Given the description of an element on the screen output the (x, y) to click on. 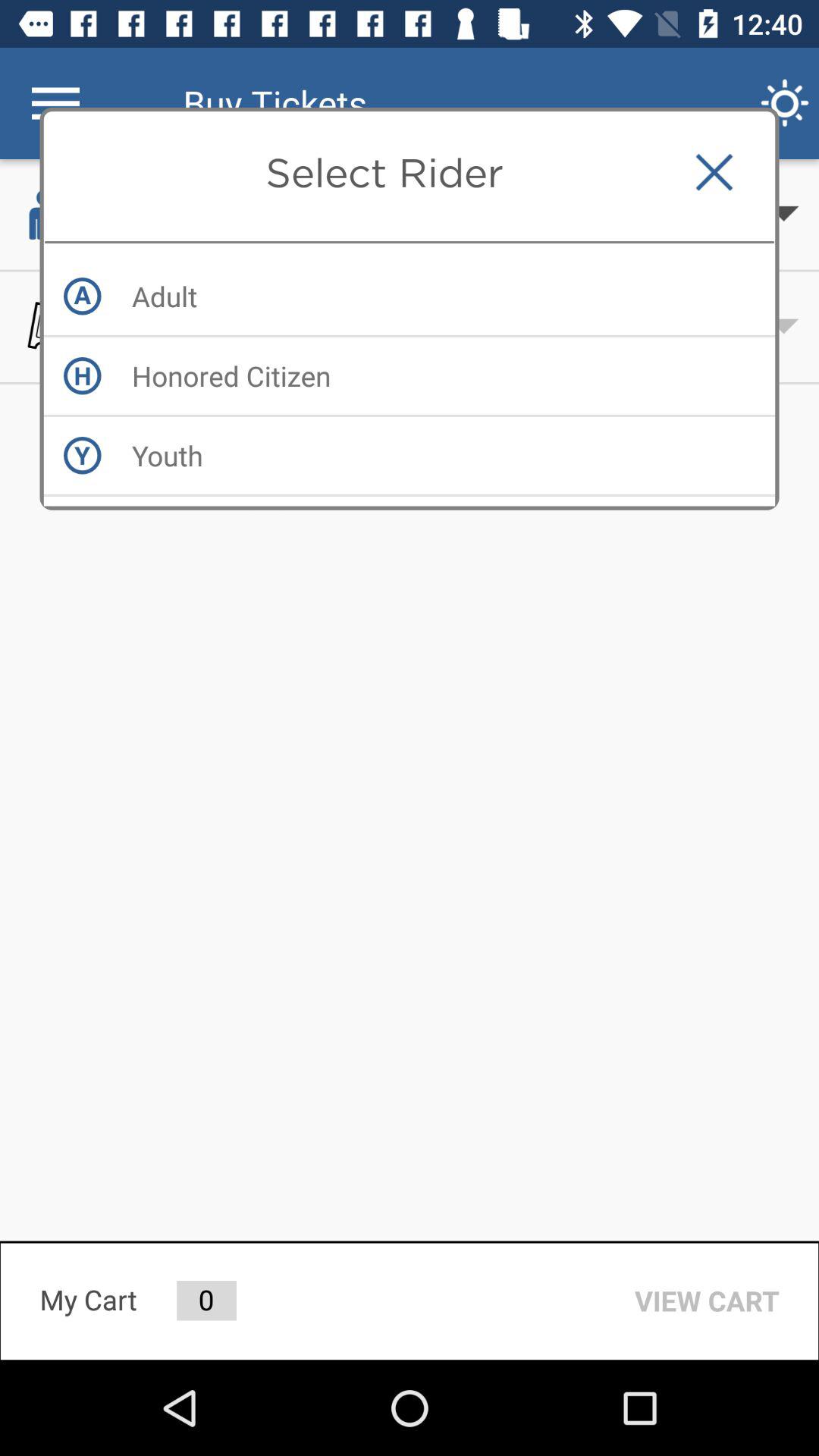
launch item to the right of the select rider item (714, 172)
